Given the description of an element on the screen output the (x, y) to click on. 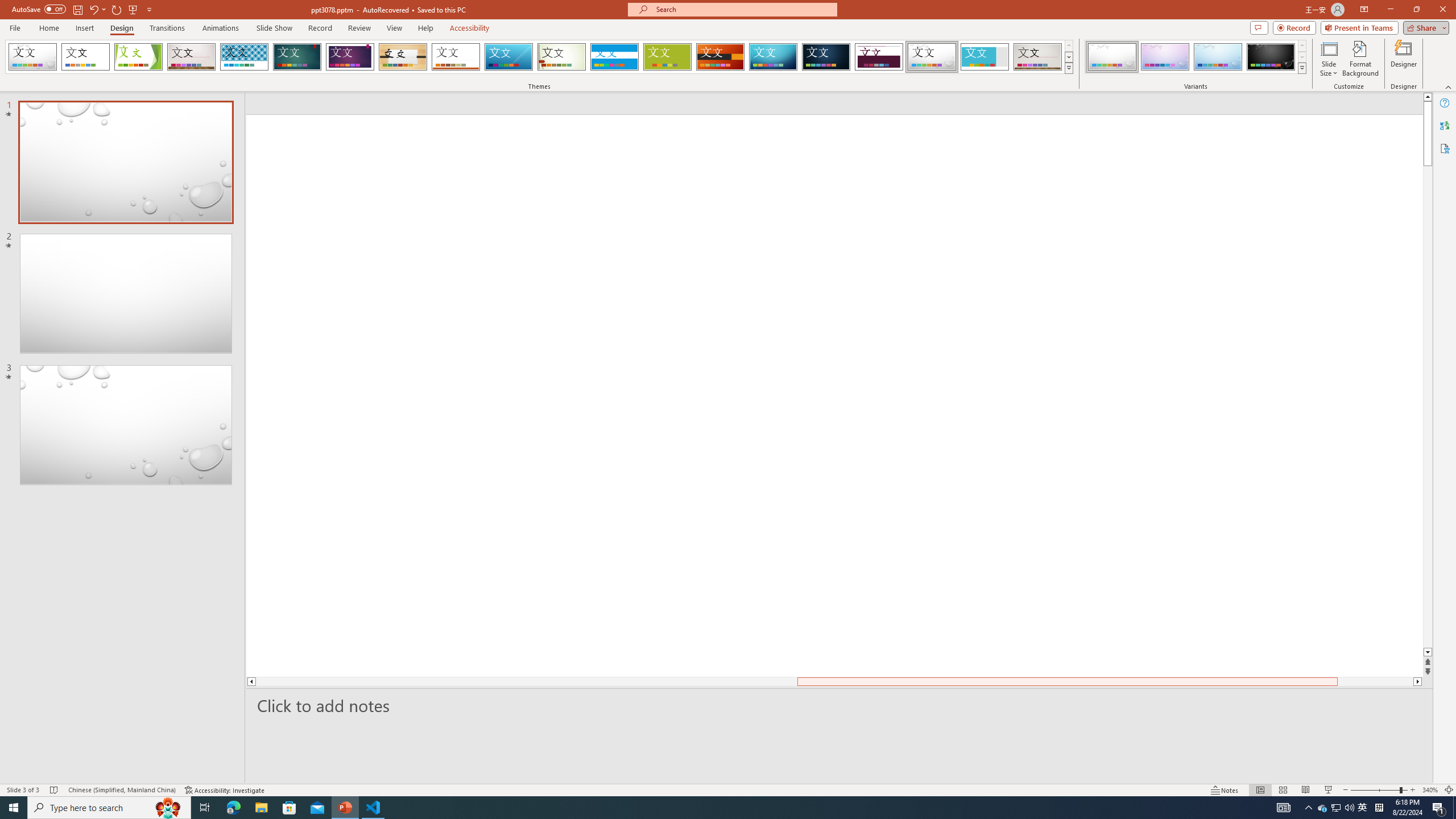
Frame (984, 56)
Basis (667, 56)
Dividend (879, 56)
AutomationID: ThemeVariantsGallery (1195, 56)
